Given the description of an element on the screen output the (x, y) to click on. 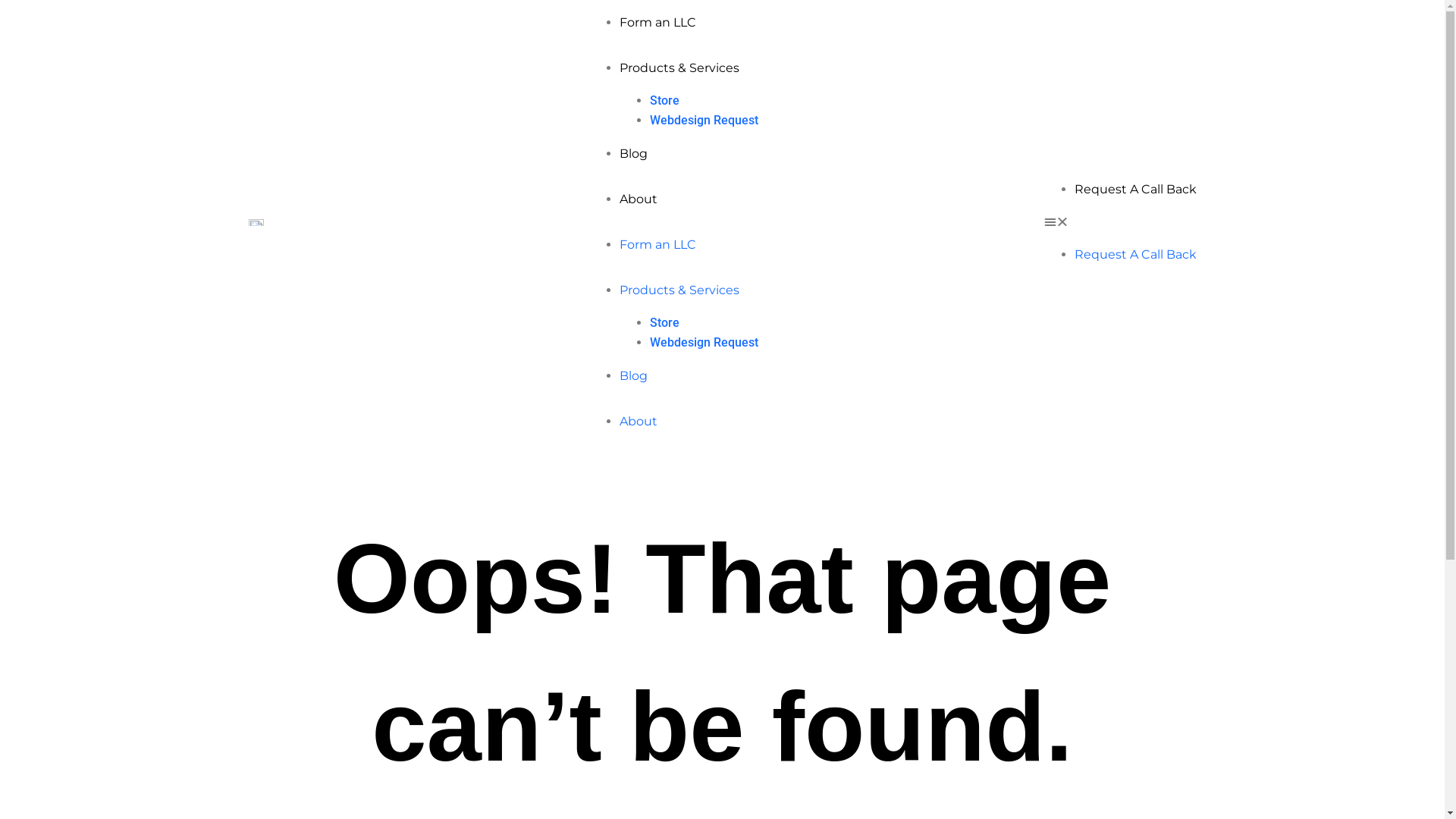
About Element type: text (637, 421)
Request A Call Back Element type: text (1134, 254)
About Element type: text (637, 198)
Blog Element type: text (632, 153)
Skip to content Element type: text (15, 7)
Products & Services Element type: text (678, 67)
Blog Element type: text (632, 375)
Webdesign Request Element type: text (703, 342)
Webdesign Request Element type: text (703, 119)
Products & Services Element type: text (678, 289)
Request A Call Back Element type: text (1134, 189)
Form an LLC Element type: text (656, 244)
Store Element type: text (663, 322)
Form an LLC Element type: text (656, 22)
Store Element type: text (663, 100)
